Given the description of an element on the screen output the (x, y) to click on. 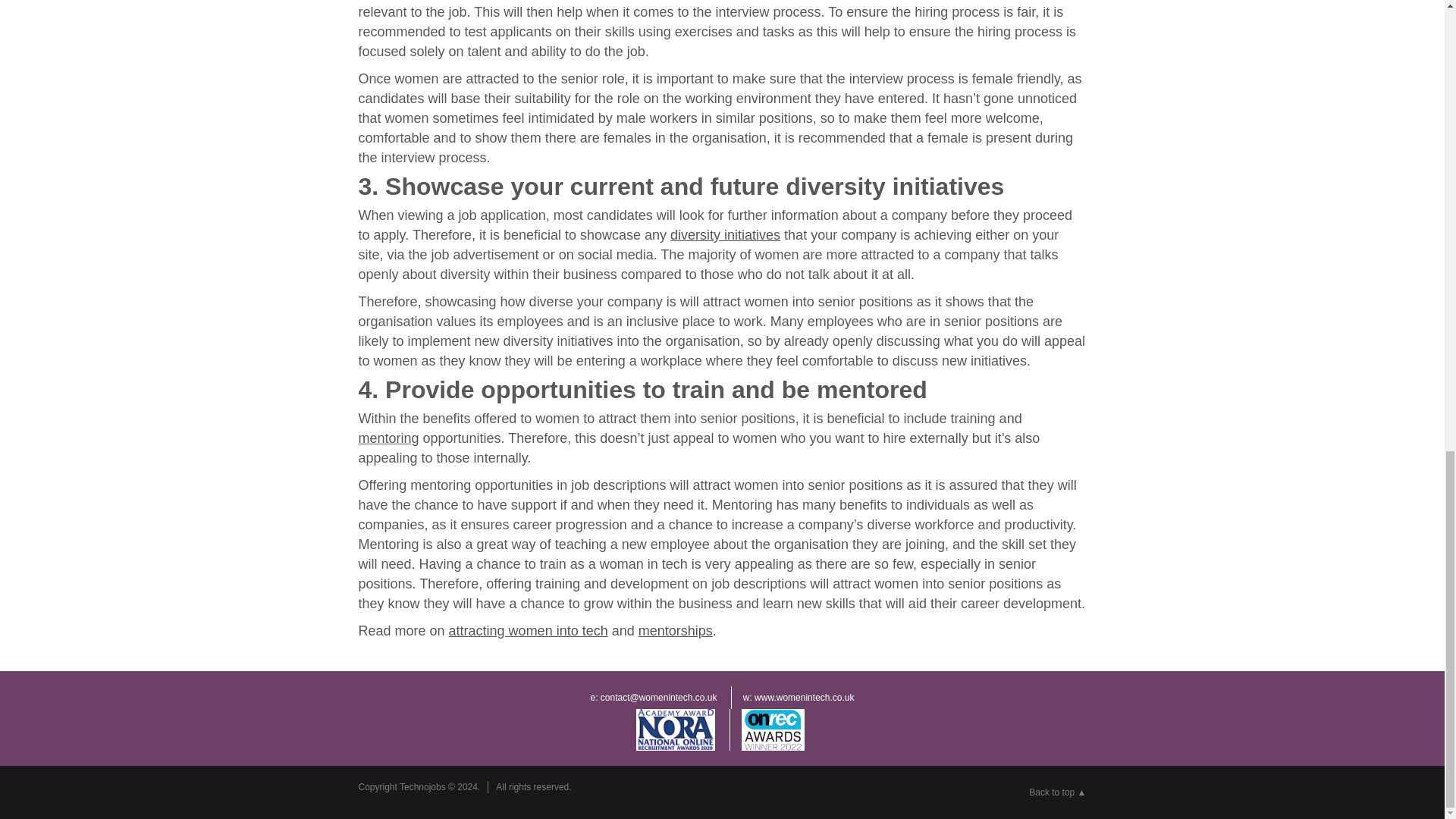
diversity initiatives (724, 234)
mentorships. (677, 630)
attracting women into tech (528, 630)
mentoring (388, 437)
w: www.womenintech.co.uk (798, 697)
Technojobs (421, 787)
